Given the description of an element on the screen output the (x, y) to click on. 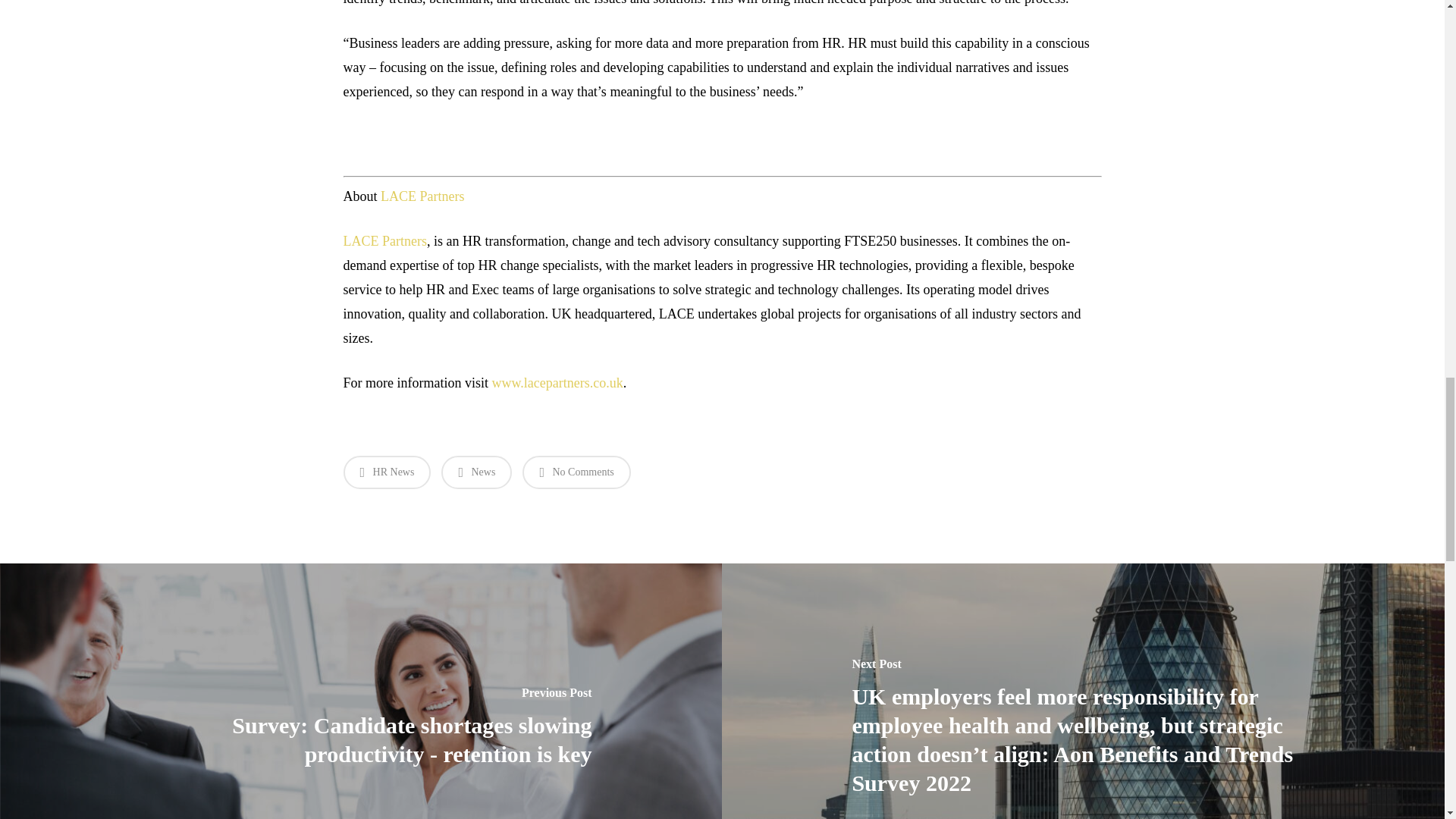
HR News (386, 471)
News (476, 471)
No Comments (576, 471)
www.lacepartners.co.uk (557, 382)
LACE Partners (422, 196)
LACE Partners (384, 240)
